Given the description of an element on the screen output the (x, y) to click on. 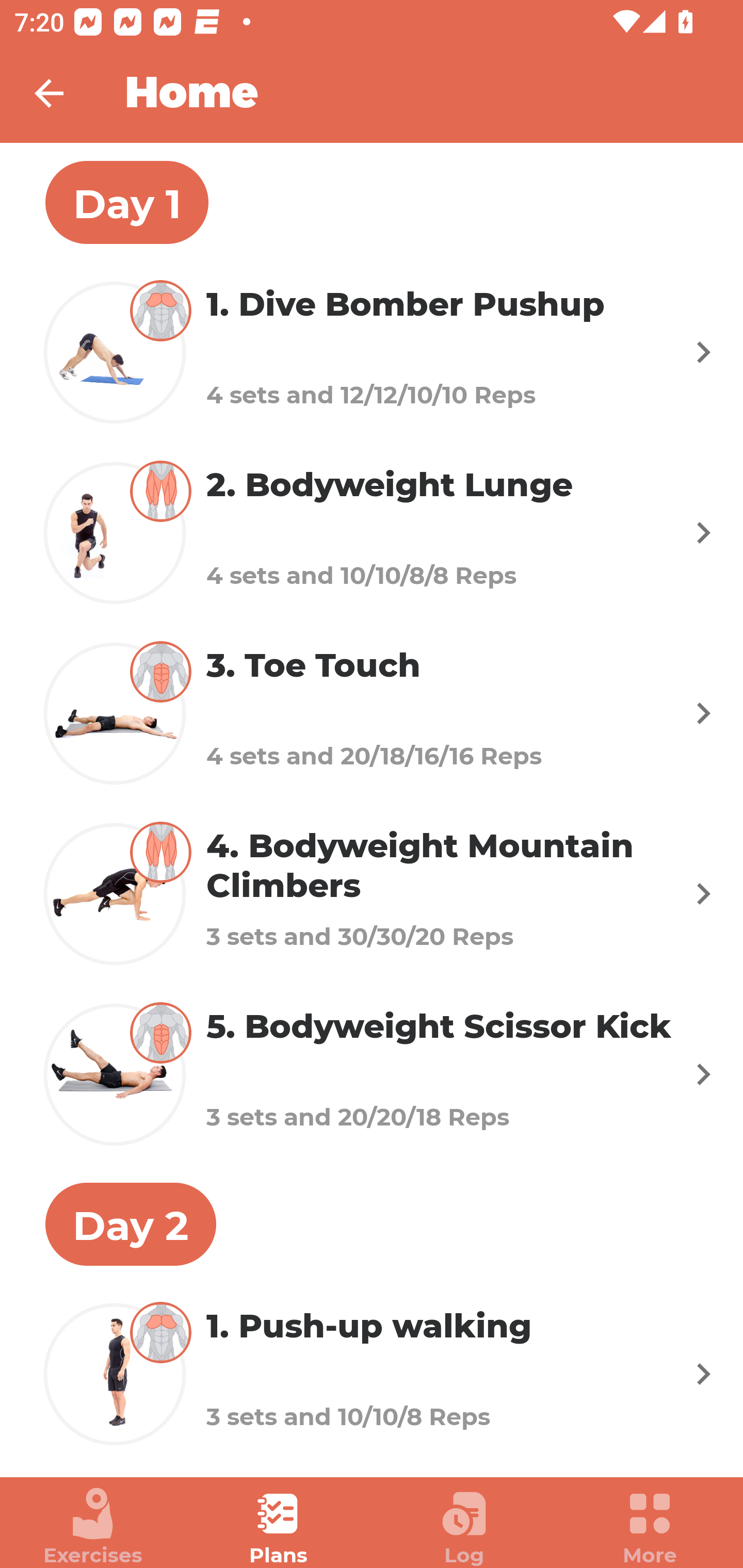
Back (62, 92)
1. Dive Bomber Pushup 4 sets and 12/12/10/10 Reps (371, 351)
2. Bodyweight Lunge 4 sets and 10/10/8/8 Reps (371, 532)
3. Toe Touch 4 sets and 20/18/16/16 Reps (371, 712)
1. Push-up walking 3 sets and 10/10/8 Reps (371, 1374)
Exercises (92, 1527)
Plans (278, 1527)
Log (464, 1527)
More (650, 1527)
